Given the description of an element on the screen output the (x, y) to click on. 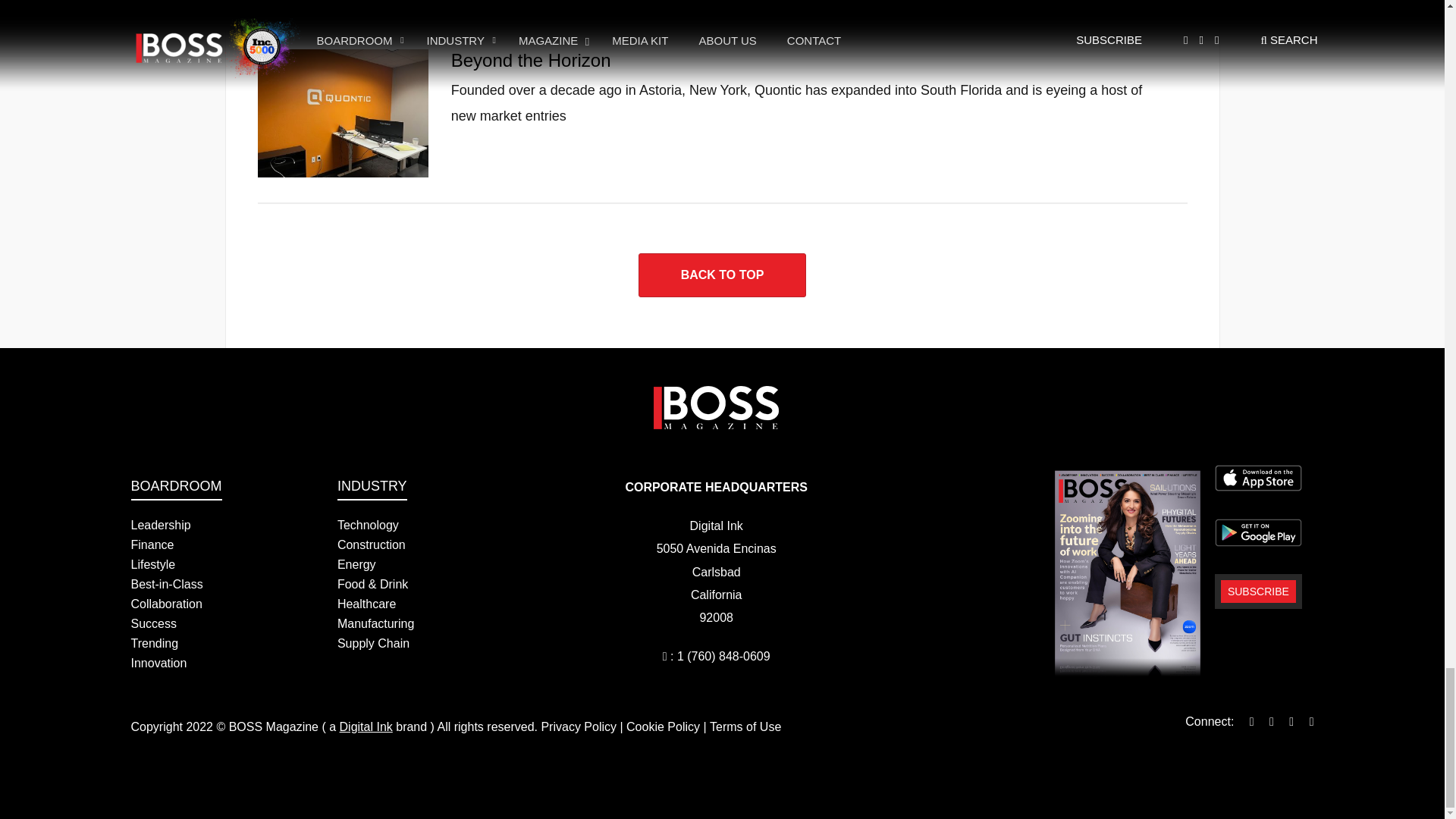
BOSS Magazine (715, 407)
Current BOSS Magazine Publication (1127, 574)
Download the BOSS Magazine App on the Apple App Store (1257, 478)
Download the BOSS Magazine App on the Google Play Store (1257, 532)
